Given the description of an element on the screen output the (x, y) to click on. 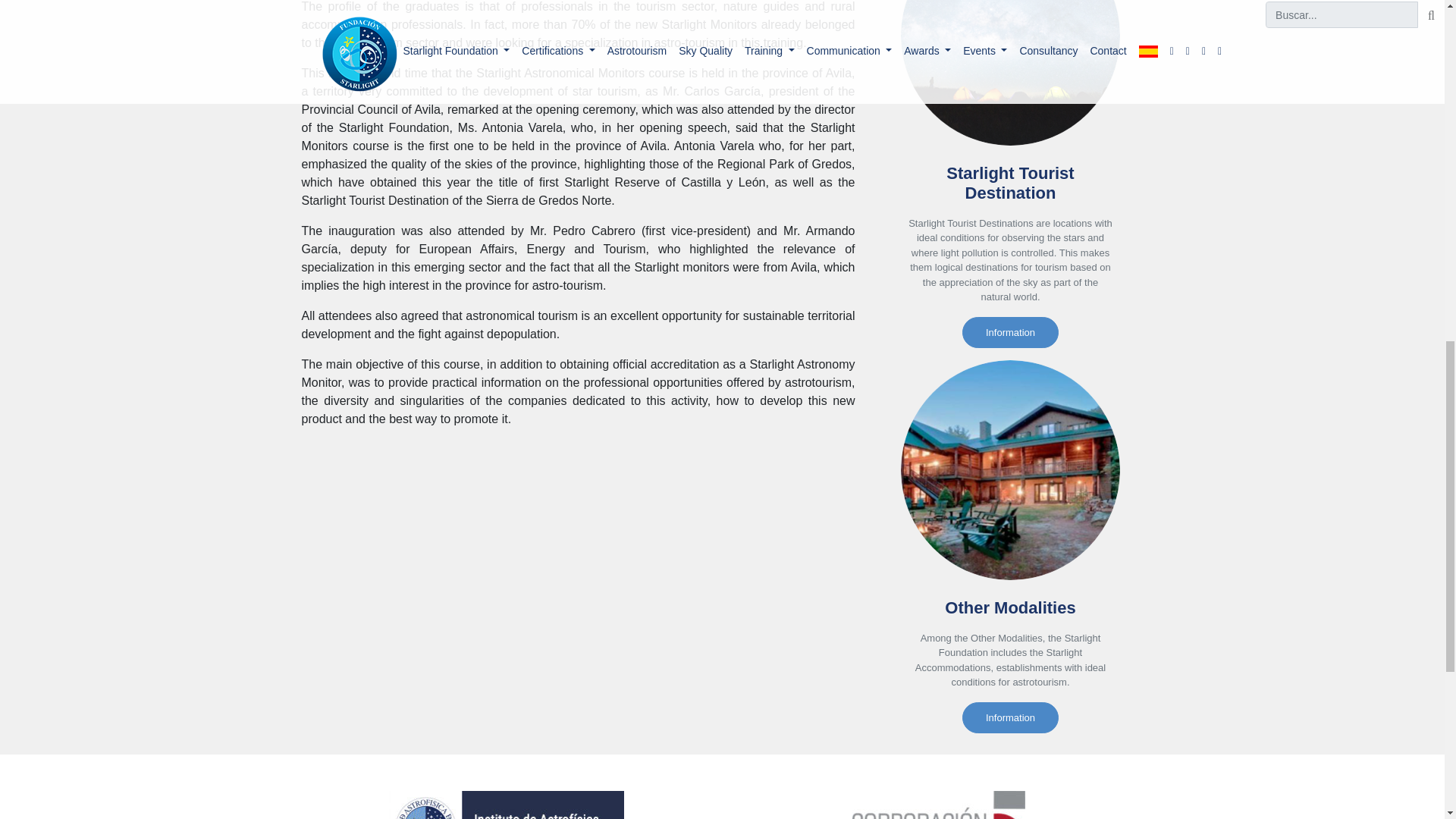
Instituto de Astrofisica de Canarias (505, 805)
